Given the description of an element on the screen output the (x, y) to click on. 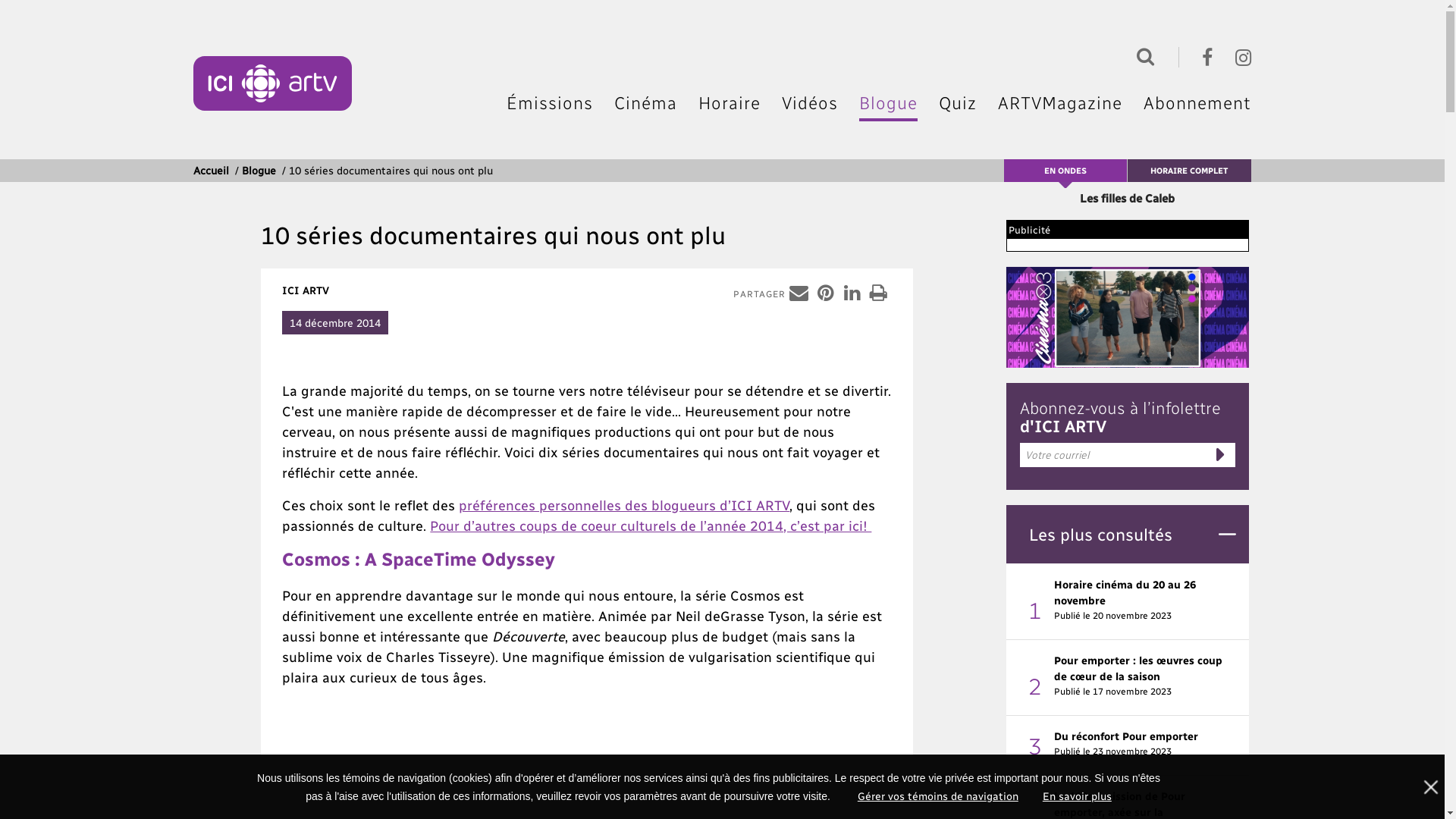
ICI ARTV Element type: text (272, 83)
Abonnement Element type: text (1197, 102)
Partager par LindedIn Element type: text (851, 292)
En savoir plus Element type: text (1076, 795)
Les filles de Caleb Element type: text (1126, 197)
Horaire Element type: text (729, 102)
HORAIRE COMPLET Element type: text (1189, 170)
Accueil Element type: text (211, 169)
ICI ARTV Element type: text (305, 289)
Blogue Element type: text (258, 169)
Partager par courriel Element type: hover (798, 292)
Partager par Pinterest Element type: text (825, 292)
Imprimer la page Element type: text (878, 292)
ARTVMagazine Element type: text (1059, 102)
Envoyer Element type: text (1219, 454)
Blogue Element type: text (888, 102)
Quiz Element type: text (957, 102)
EN ONDES Element type: text (1065, 170)
